Given the description of an element on the screen output the (x, y) to click on. 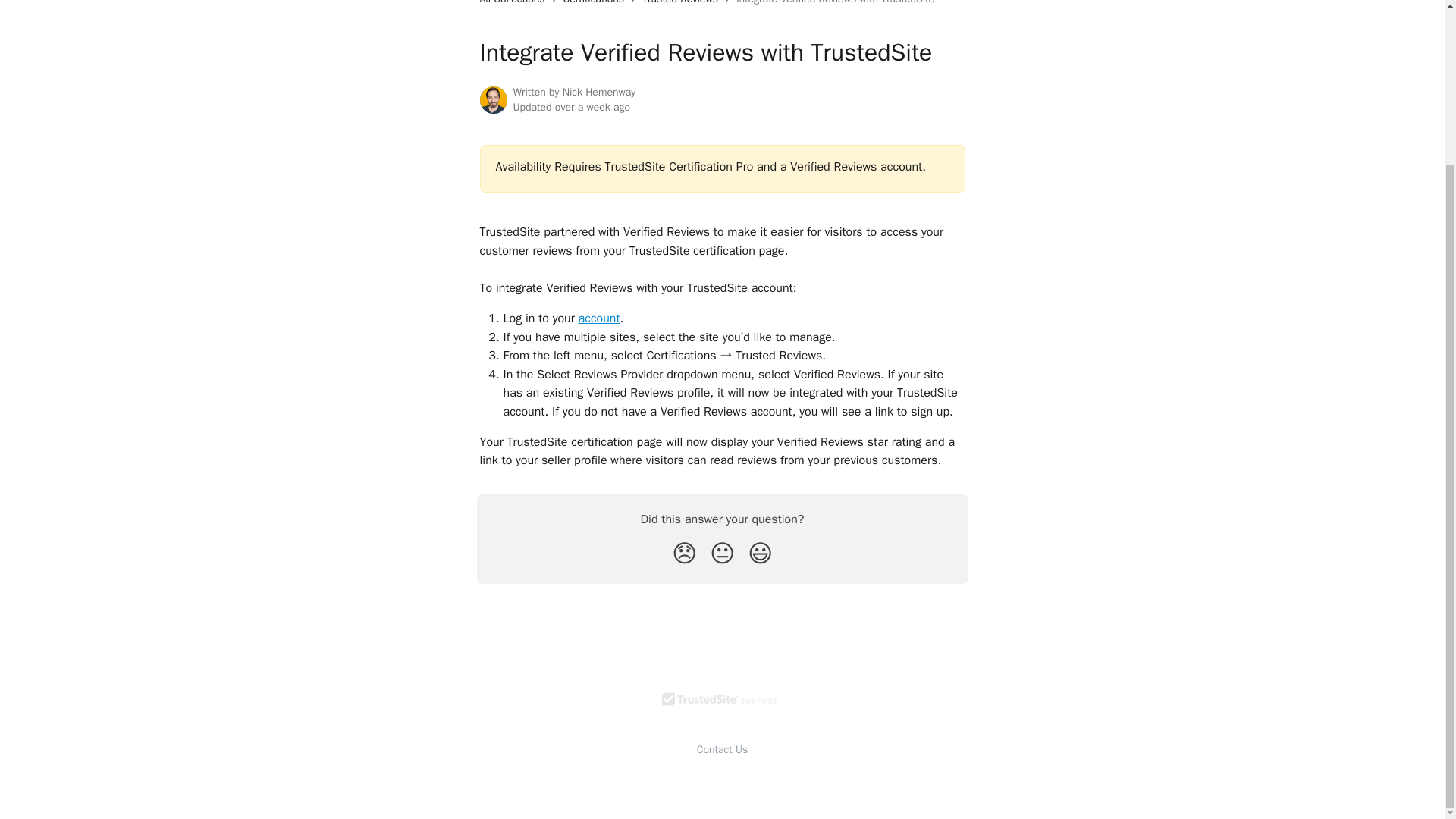
All Collections (514, 3)
Certifications (596, 3)
Trusted Reviews (682, 3)
account (599, 318)
Contact Us (722, 748)
